Given the description of an element on the screen output the (x, y) to click on. 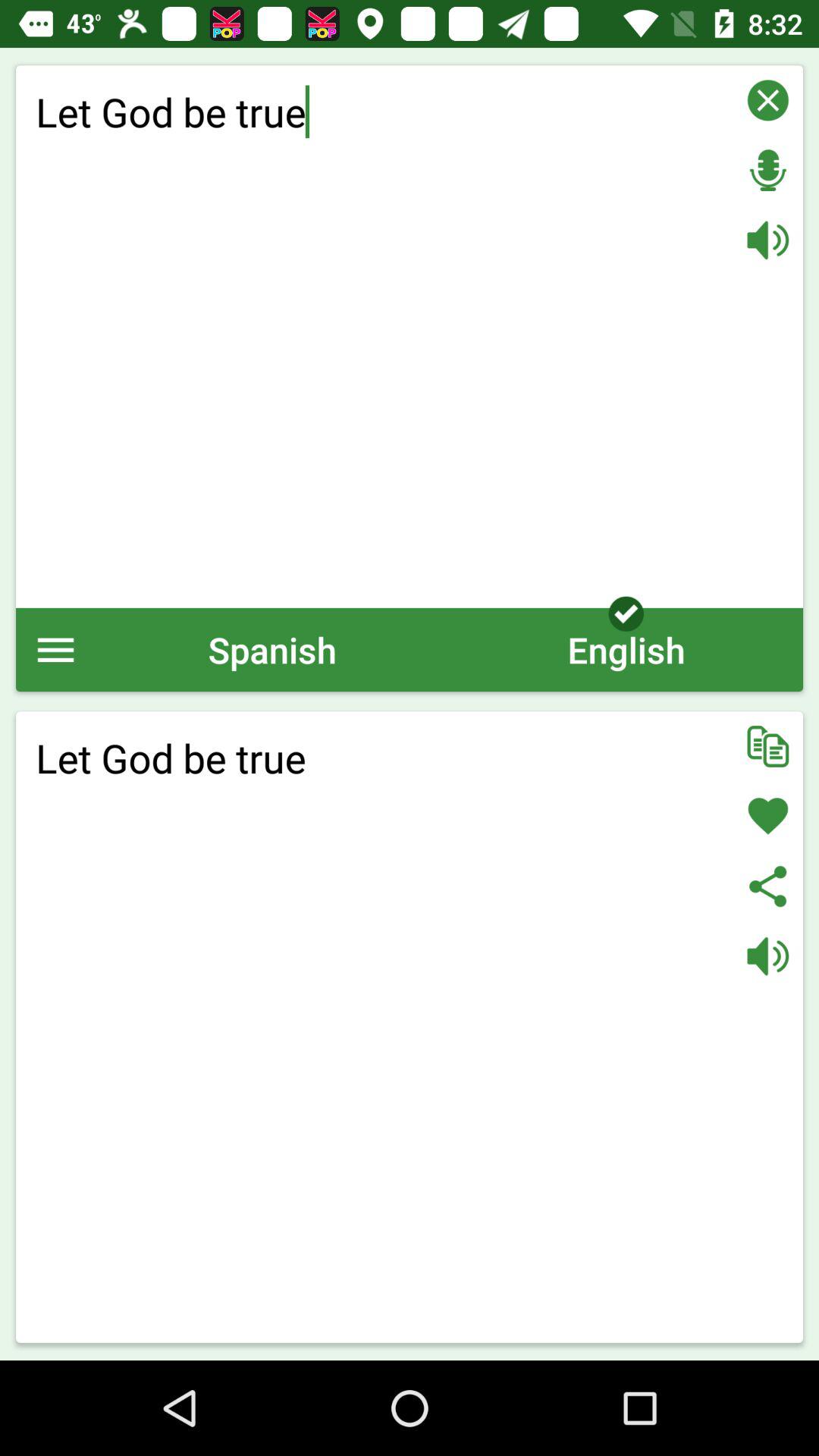
select icon below let god be (626, 649)
